Given the description of an element on the screen output the (x, y) to click on. 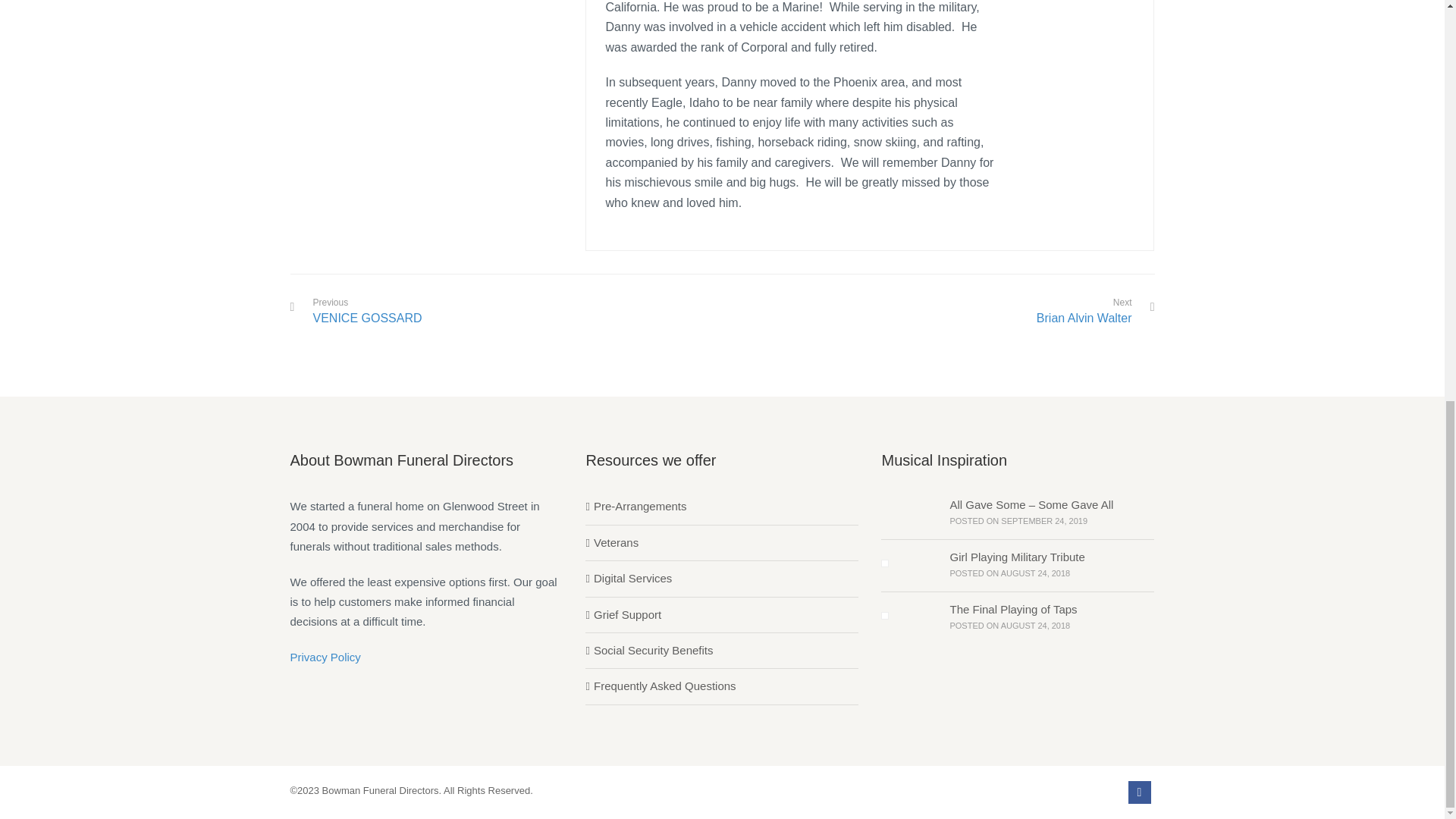
Veterans (612, 542)
Frequently Asked Questions (660, 686)
Privacy Policy (324, 656)
Social Security Benefits (649, 650)
Brian Alvin Walter (1084, 318)
Grief Support (623, 614)
Pre-Arrangements (367, 312)
Digital Services (635, 506)
